Given the description of an element on the screen output the (x, y) to click on. 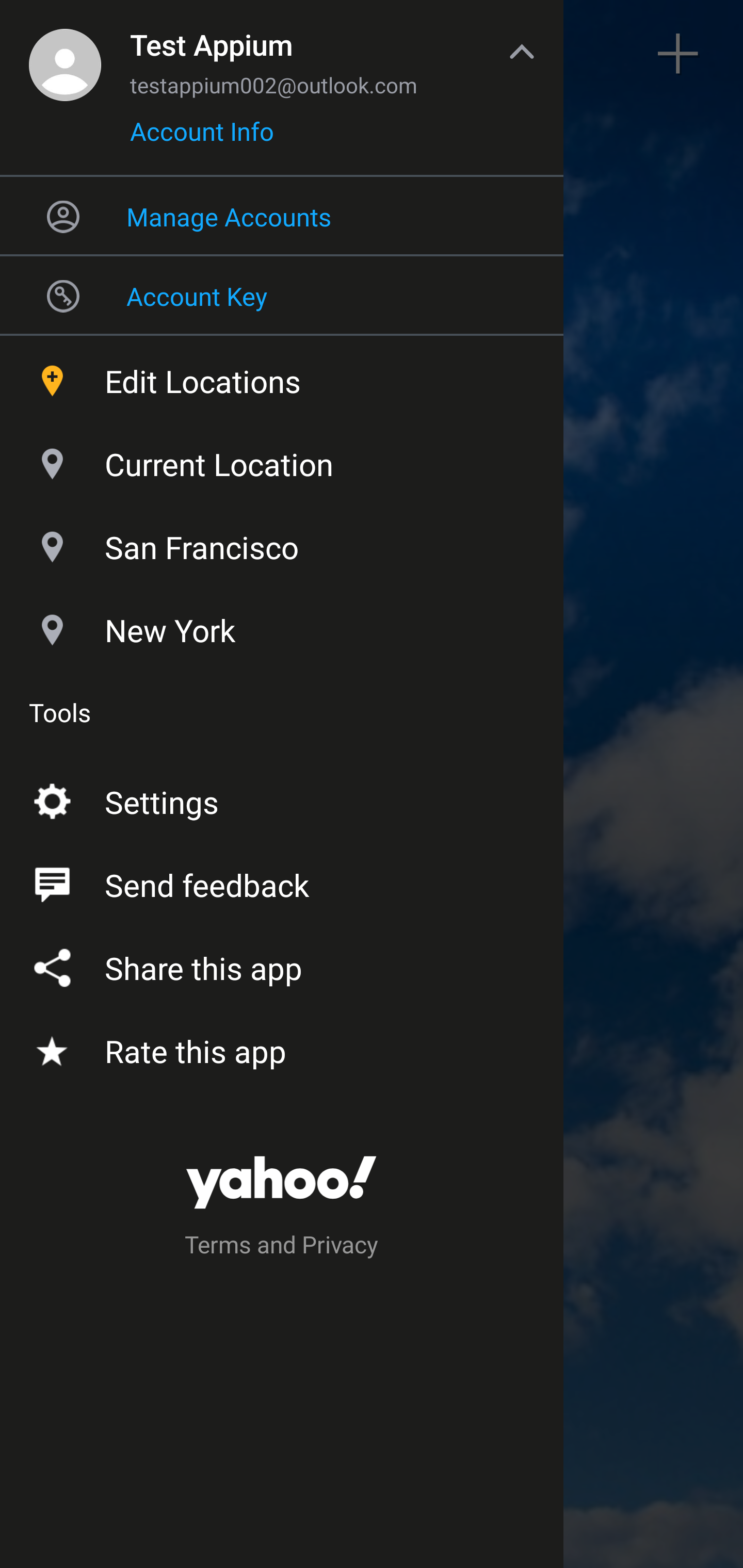
Sidebar (64, 54)
Account Info (202, 137)
Manage Accounts (281, 216)
Account Key (281, 295)
Edit Locations (281, 376)
Current Location (281, 459)
San Francisco (281, 542)
New York (281, 625)
Settings (281, 798)
Send feedback (281, 880)
Share this app (281, 963)
Terms and Privacy Terms and privacy button (281, 1248)
